Given the description of an element on the screen output the (x, y) to click on. 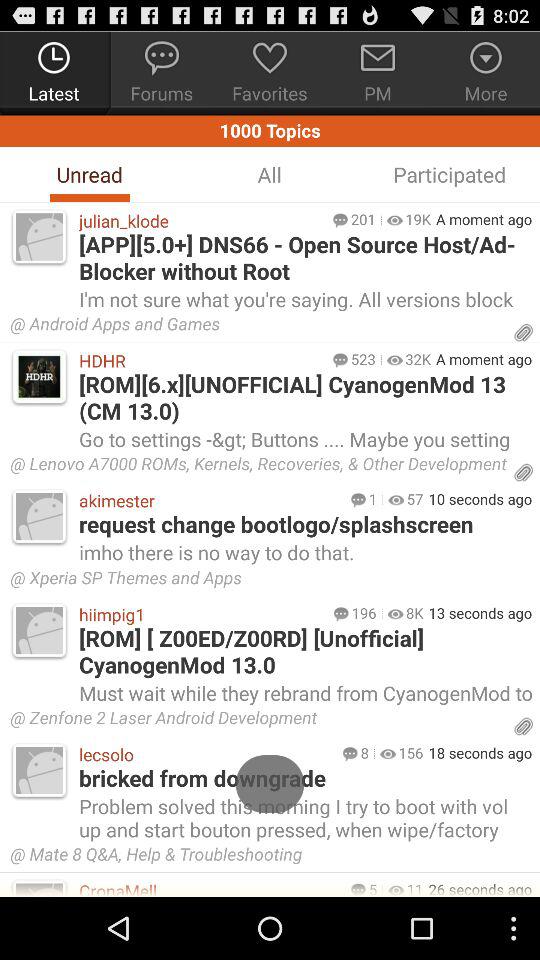
launch item below the android apps and icon (417, 359)
